Given the description of an element on the screen output the (x, y) to click on. 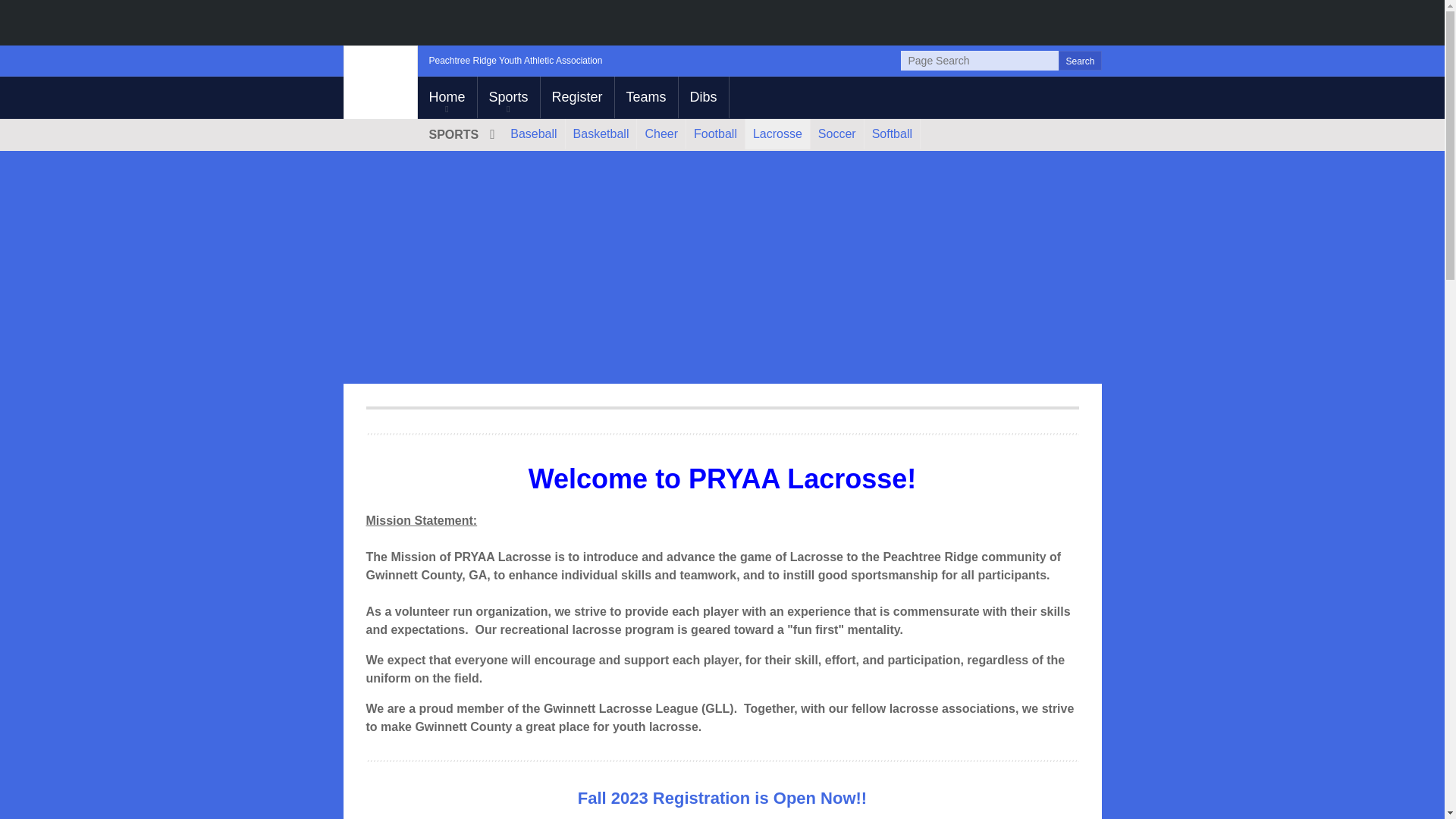
click to go to 'Teams' (646, 96)
click to go to 'Lacrosse' (777, 133)
click to go to 'Soccer' (836, 133)
click to go to 'Softball' (892, 133)
Fall 2023 Registration is Open Now!! (722, 799)
click to go to 'Home' (446, 96)
Register (577, 96)
click to go to 'Basketball' (601, 133)
Softball (892, 133)
Lacrosse (777, 133)
Cheer (661, 133)
Dibs (703, 96)
click to go to 'Register' (577, 96)
Dibs (703, 96)
click to go to 'Football' (714, 133)
